Given the description of an element on the screen output the (x, y) to click on. 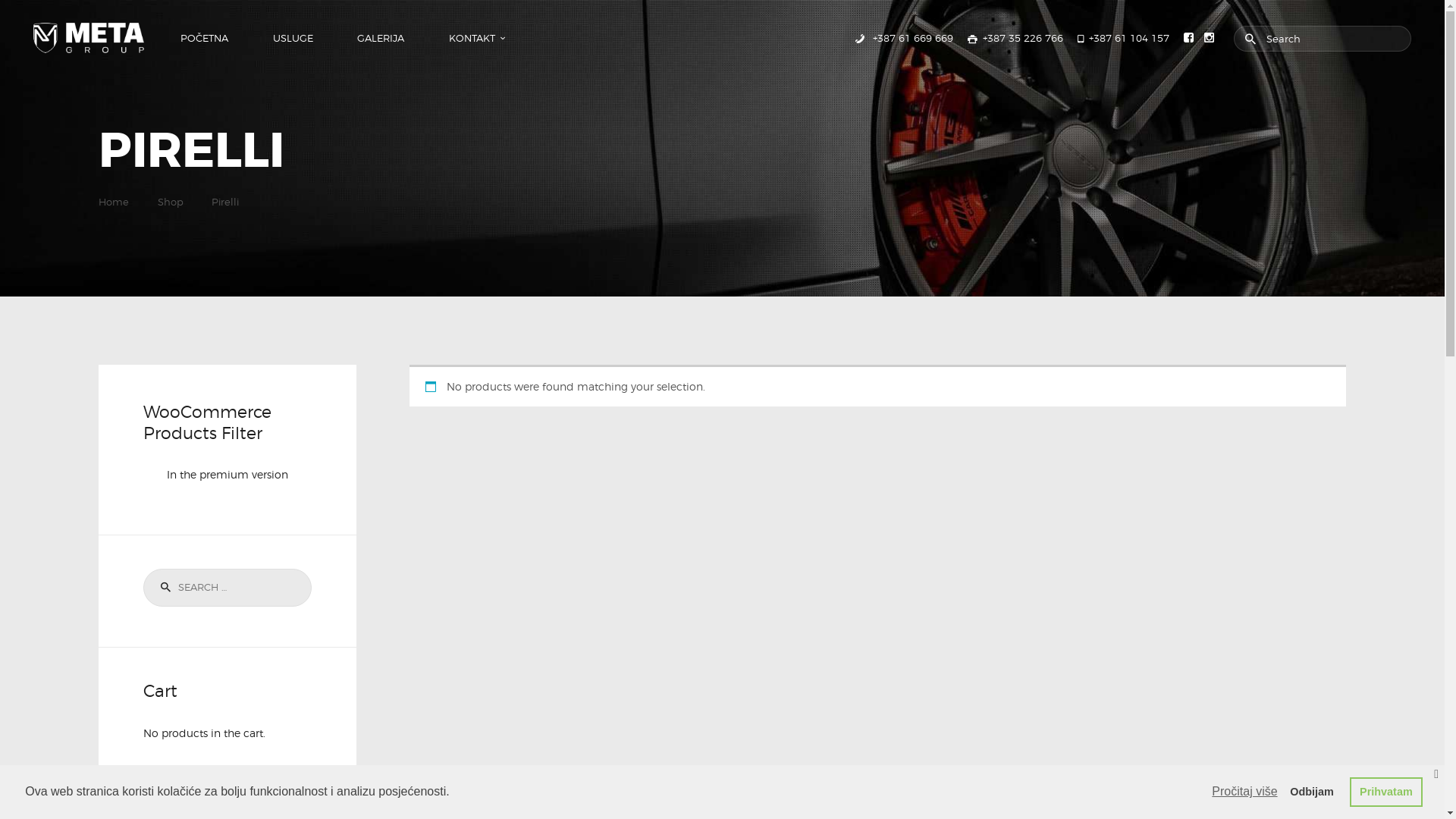
+387 61 104 157 Element type: text (1123, 37)
GALERIJA Element type: text (380, 37)
Home Element type: text (113, 201)
+387 35 226 766 Element type: text (1015, 37)
SEARCH Element type: text (162, 587)
Prihvatam Element type: text (1386, 791)
KONTAKT Element type: text (470, 37)
Shop Element type: text (170, 201)
Odbijam Element type: text (1312, 791)
USLUGE Element type: text (293, 37)
+387 61 669 669 Element type: text (902, 37)
